Given the description of an element on the screen output the (x, y) to click on. 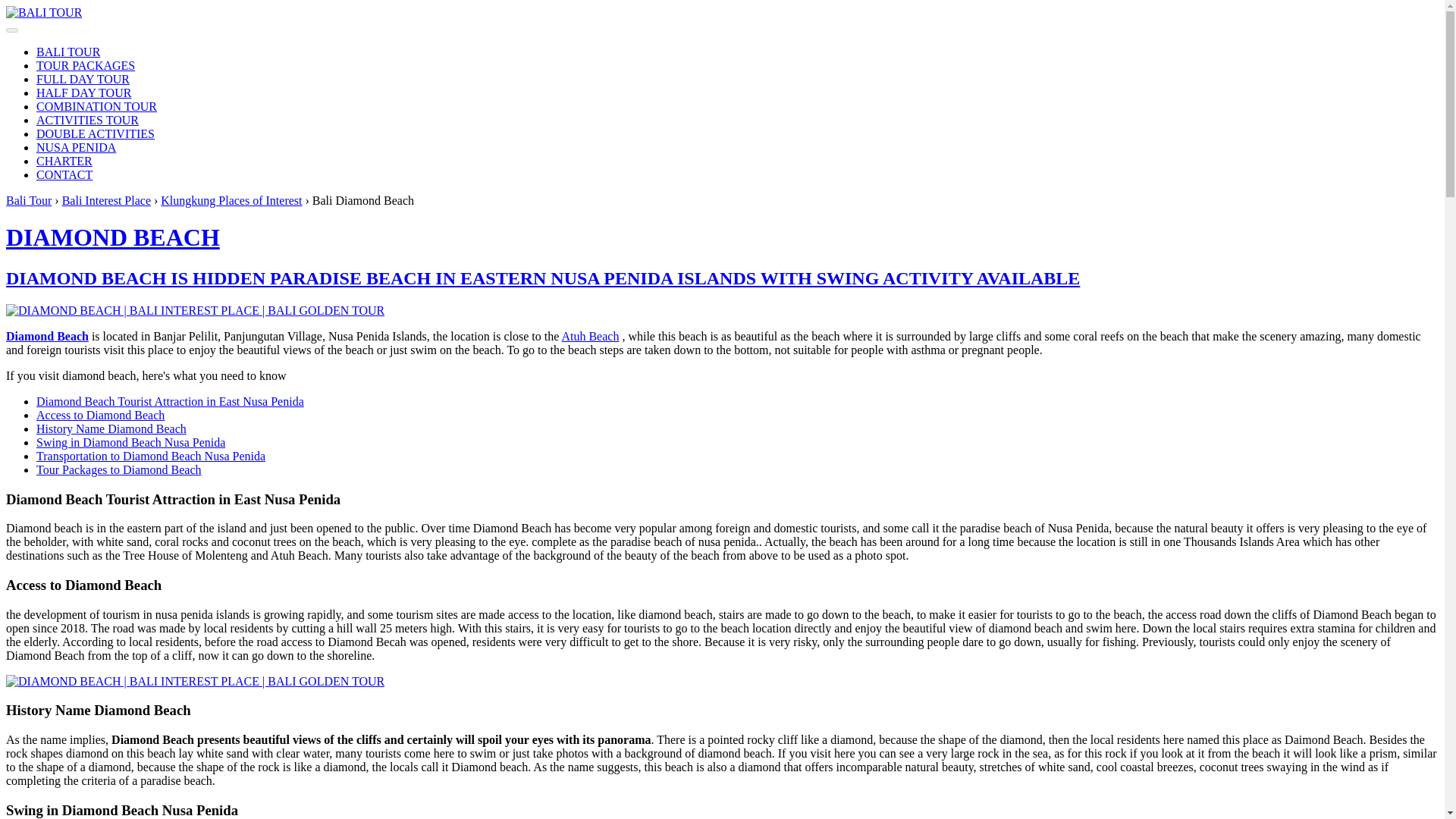
Bali Interest Place (106, 200)
DOUBLE ACTIVITIES (95, 133)
BALI COMBINATION TOUR (96, 106)
Swing in Diamond Beach Nusa Penida (130, 441)
BALI FULL DAY TOUR (82, 78)
BALI TOUR (43, 12)
DIAMOND BEACH (112, 236)
Bali Interest Place (106, 200)
History Name Diamond Beach (111, 428)
